Given the description of an element on the screen output the (x, y) to click on. 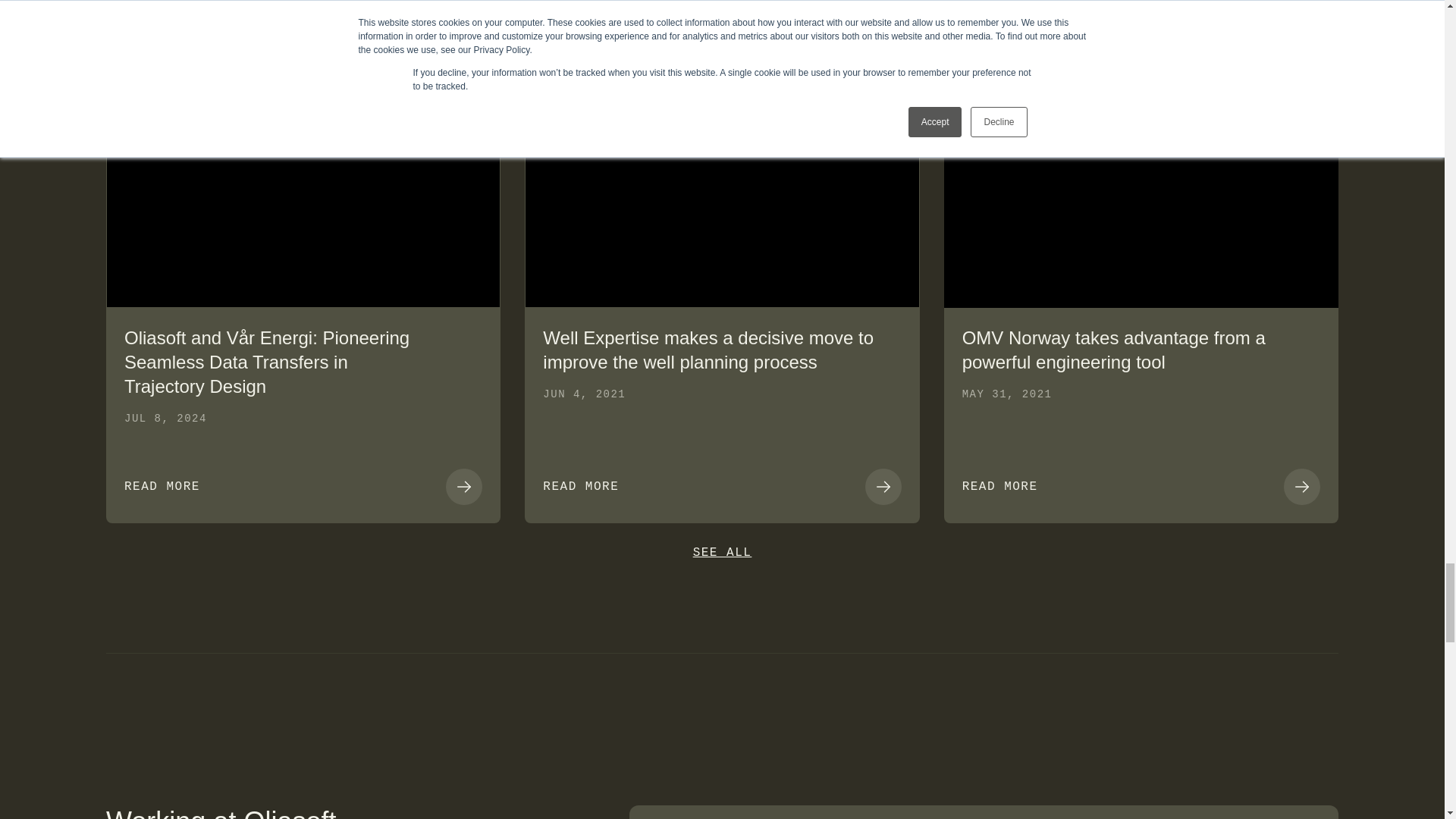
SEE ALL (722, 552)
